Given the description of an element on the screen output the (x, y) to click on. 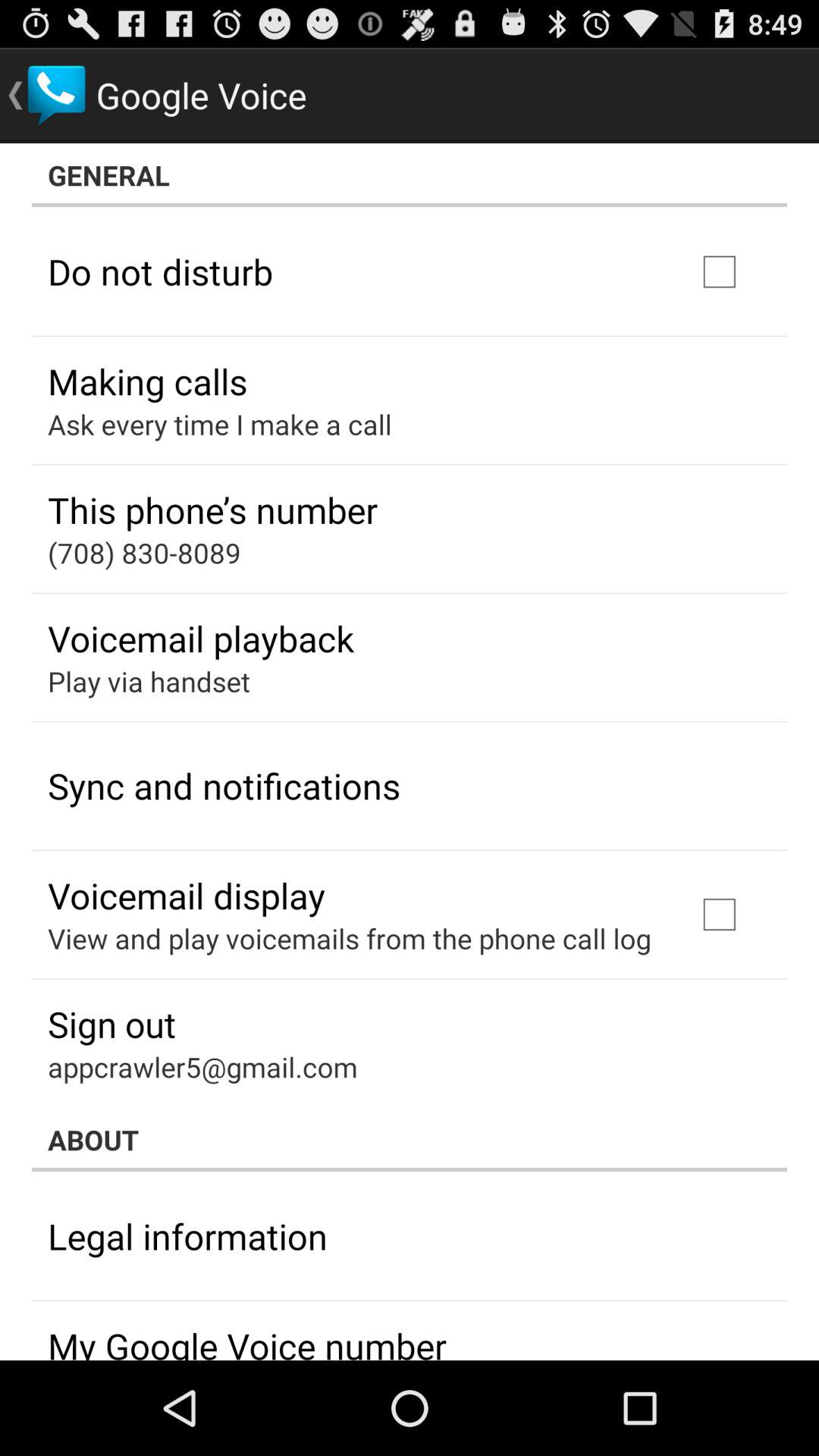
launch the icon below ask every time item (212, 509)
